Given the description of an element on the screen output the (x, y) to click on. 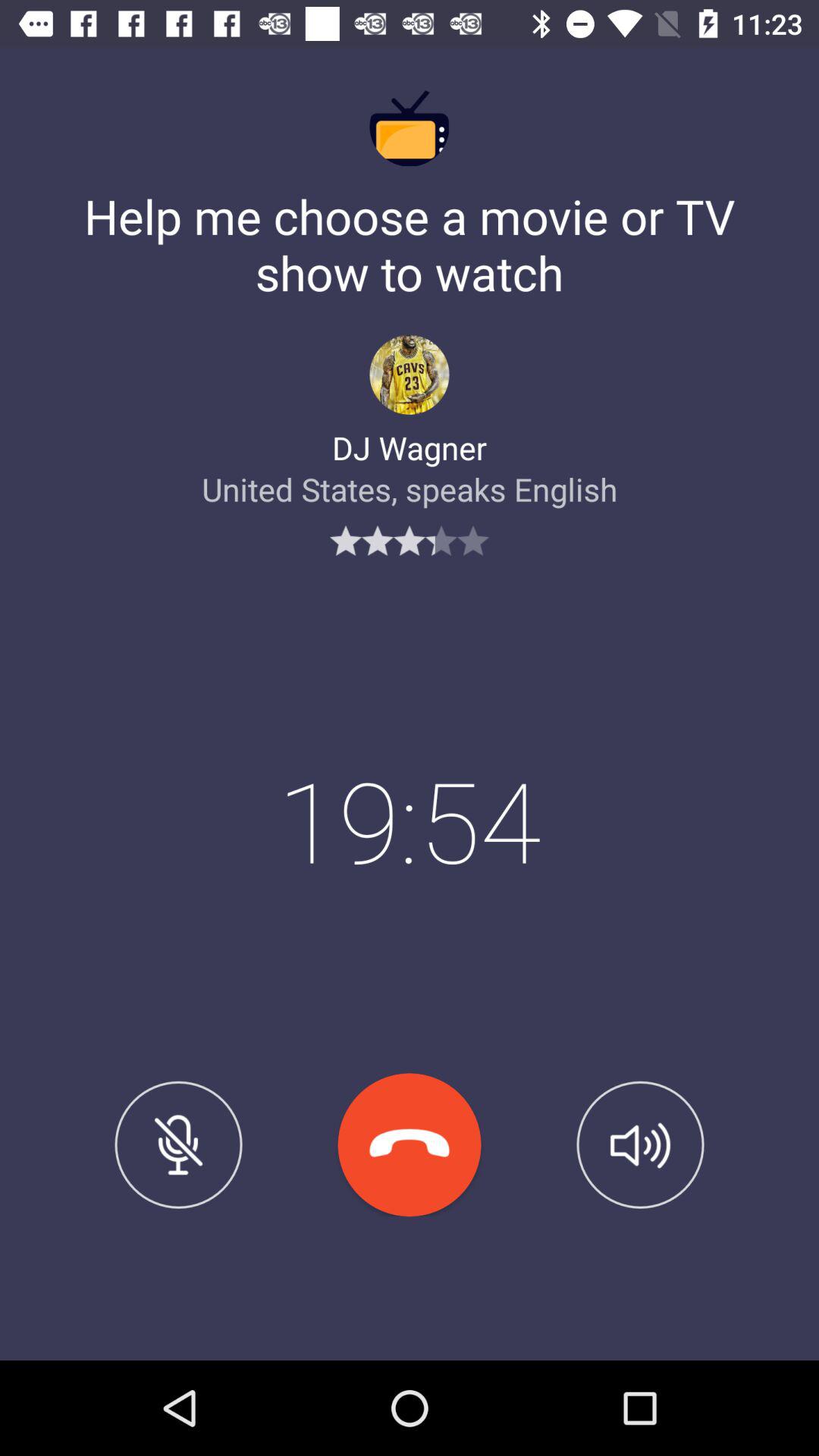
press icon at the bottom right corner (640, 1144)
